Given the description of an element on the screen output the (x, y) to click on. 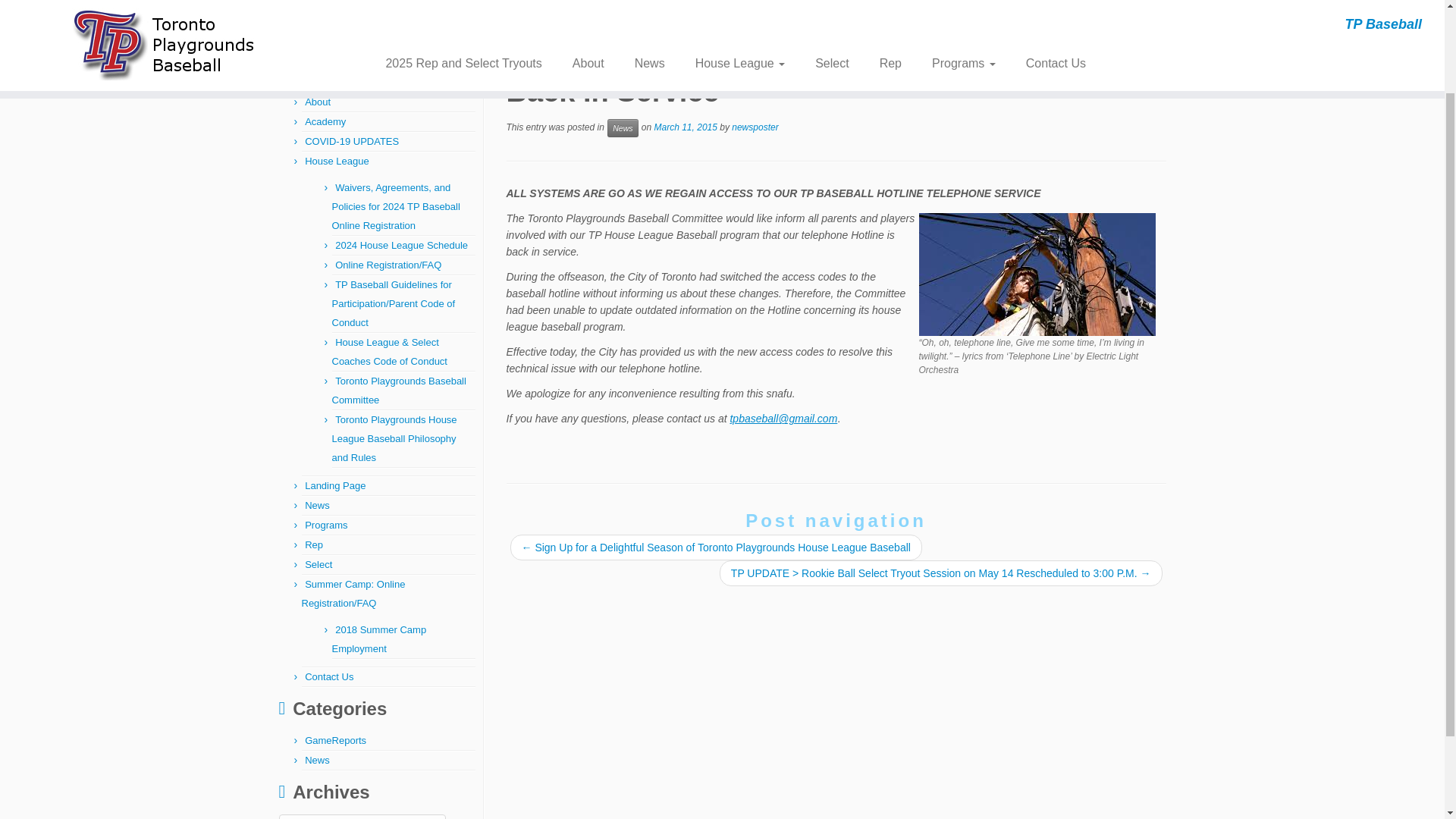
News (317, 505)
News (370, 12)
Academy (325, 121)
House League (336, 161)
Toronto Playgrounds Baseball Committee (398, 390)
2025 Rep and Select Tryouts (368, 81)
Rep (313, 544)
Select (317, 564)
2024 House League Schedule (400, 244)
